Given the description of an element on the screen output the (x, y) to click on. 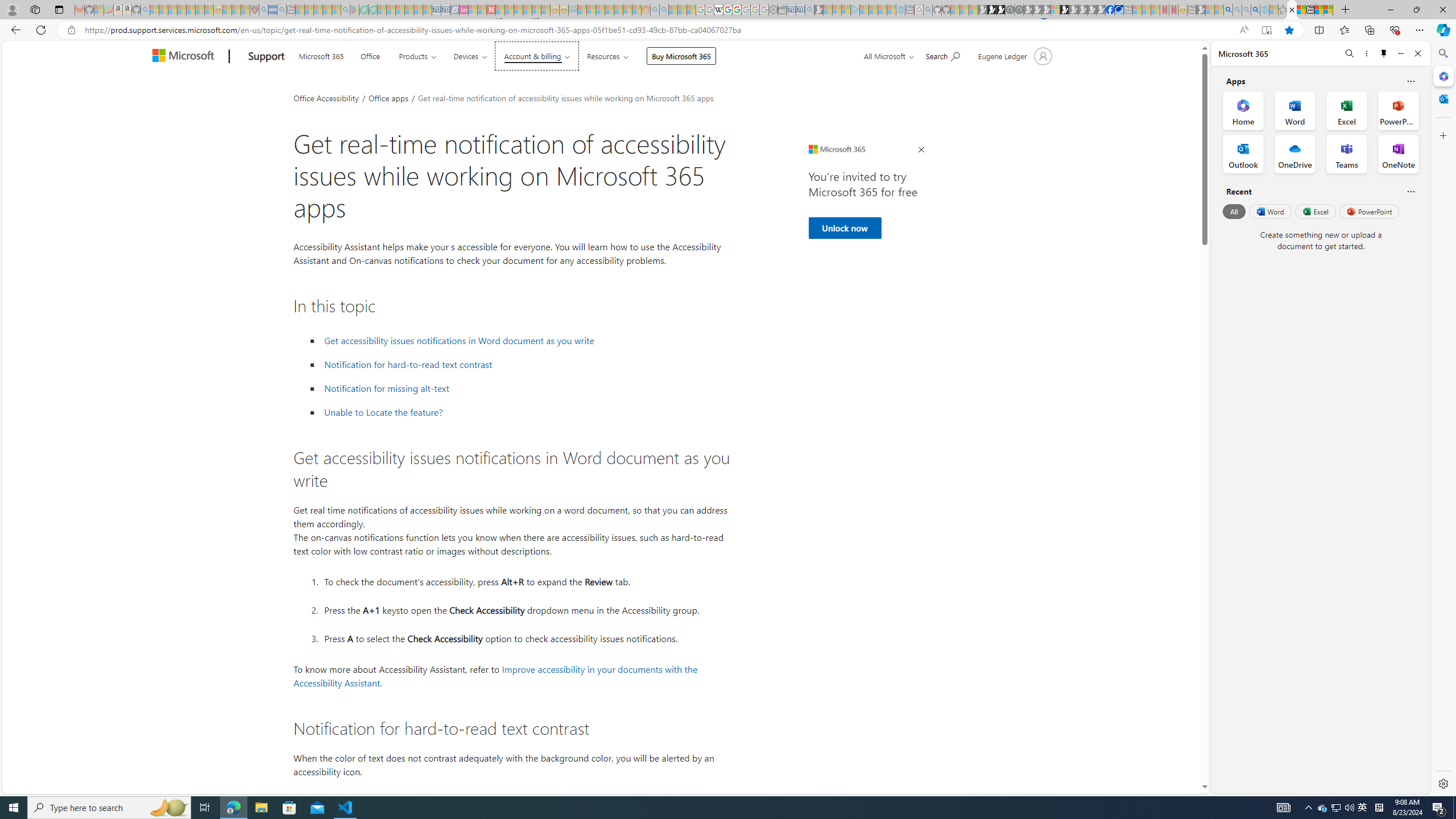
Support (266, 56)
Google Chrome Internet Browser Download - Search Images (1255, 9)
Buy Microsoft 365 (681, 55)
Word Office App (1295, 110)
utah sues federal government - Search - Sleeping (281, 9)
Jobs - lastminute.com Investor Portal - Sleeping (463, 9)
Latest Politics News & Archive | Newsweek.com - Sleeping (490, 9)
